Given the description of an element on the screen output the (x, y) to click on. 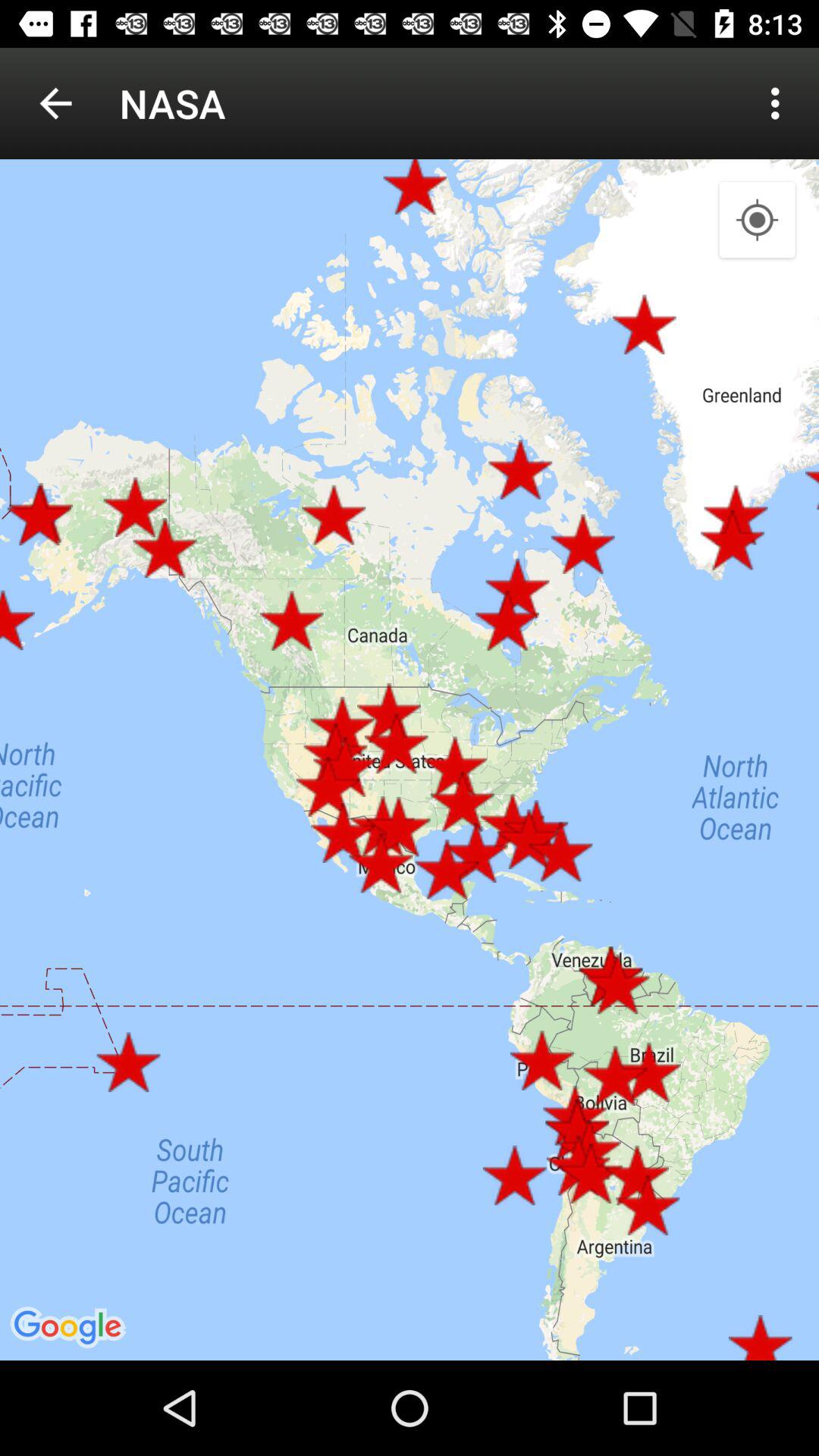
turn on app to the left of the nasa icon (55, 103)
